Given the description of an element on the screen output the (x, y) to click on. 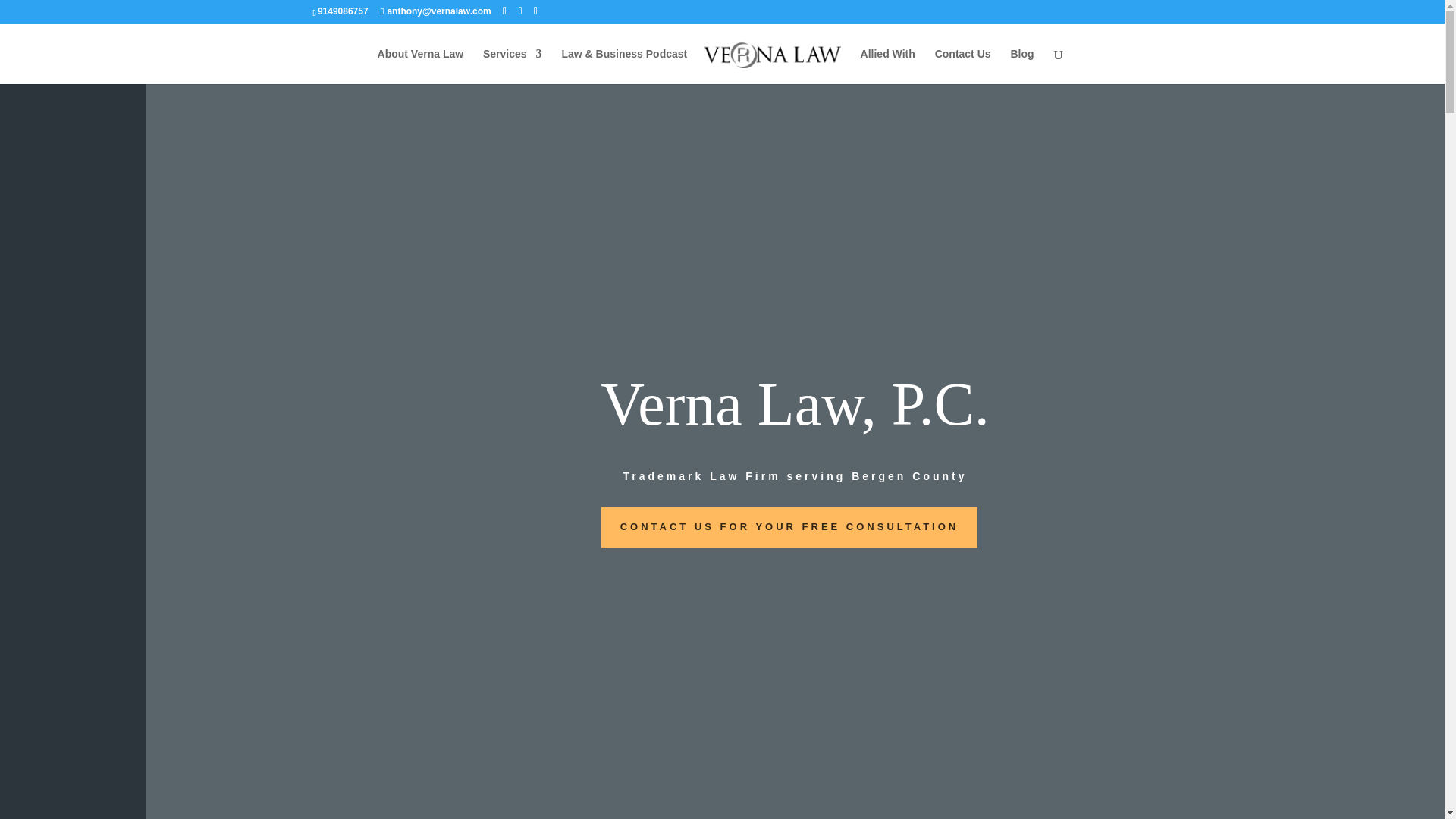
Services (512, 66)
Contact Us (962, 66)
CONTACT US FOR YOUR FREE CONSULTATION (789, 526)
Allied With (887, 66)
About Verna Law (420, 66)
